Given the description of an element on the screen output the (x, y) to click on. 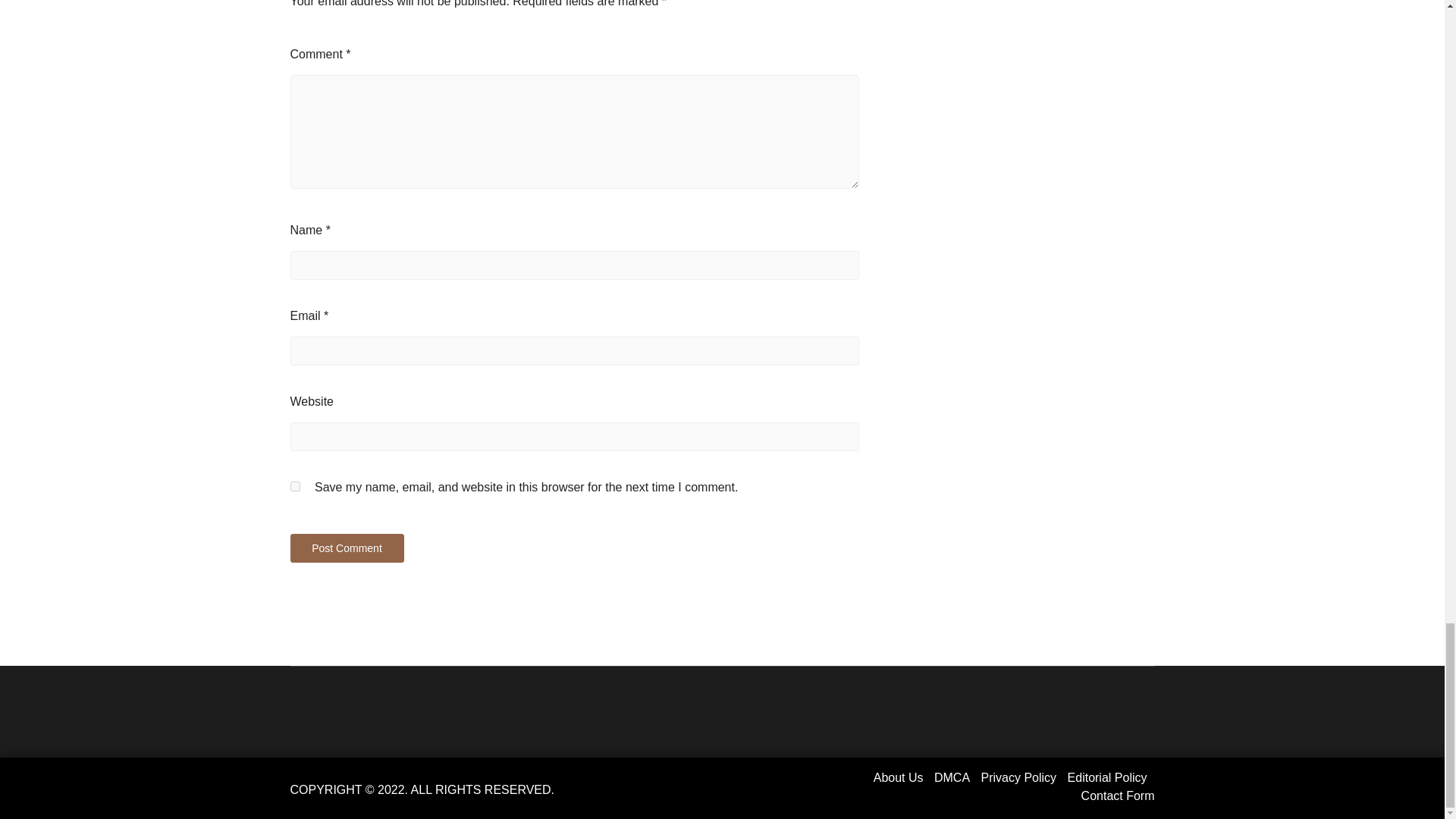
yes (294, 486)
Post Comment (346, 547)
Post Comment (346, 547)
